Given the description of an element on the screen output the (x, y) to click on. 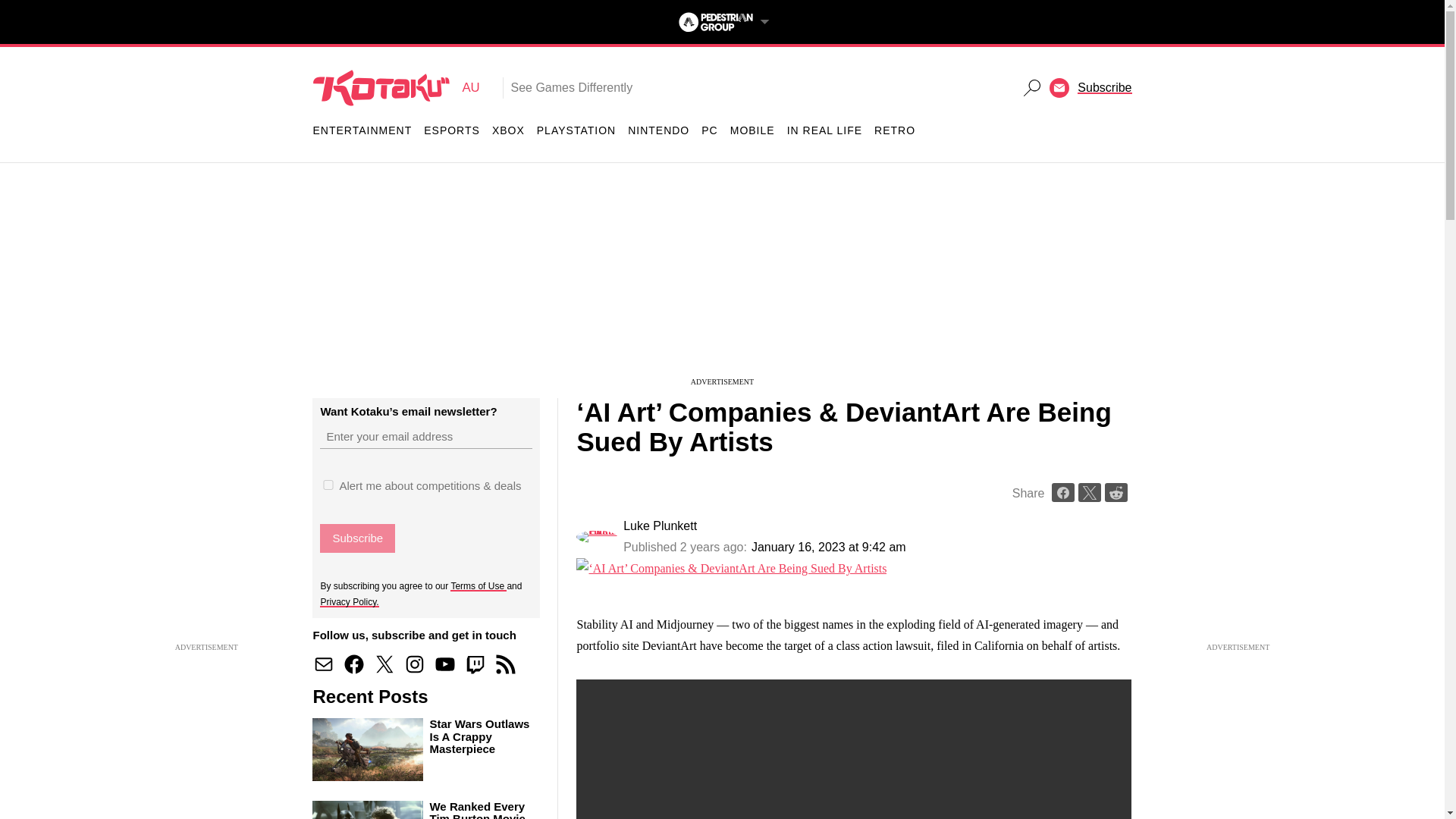
Privacy Policy. (349, 601)
contact (323, 663)
feed (505, 663)
XBOX (508, 130)
instagram (414, 663)
NINTENDO (657, 130)
X (384, 663)
youtube (445, 663)
Subscribe (357, 538)
Subscribe (771, 449)
